Given the description of an element on the screen output the (x, y) to click on. 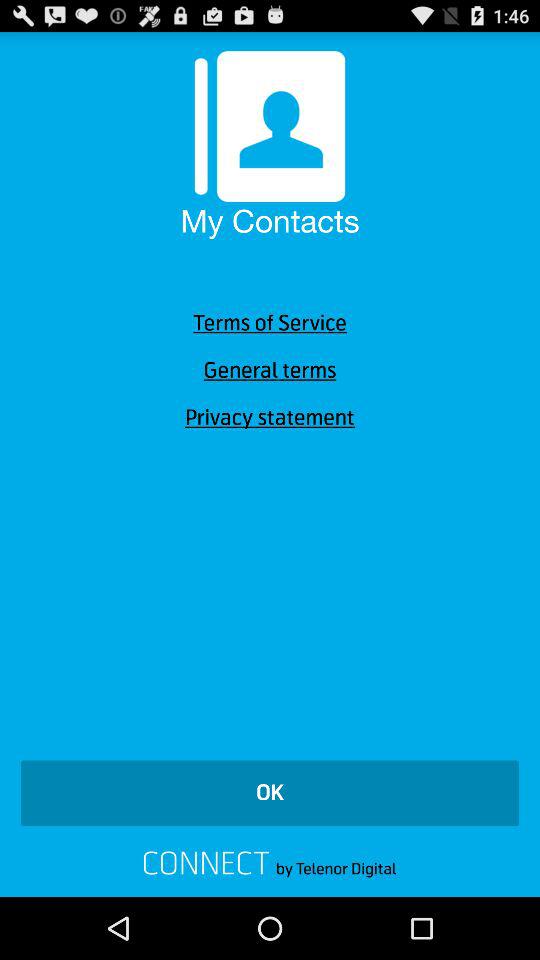
choose item above privacy statement icon (270, 370)
